Given the description of an element on the screen output the (x, y) to click on. 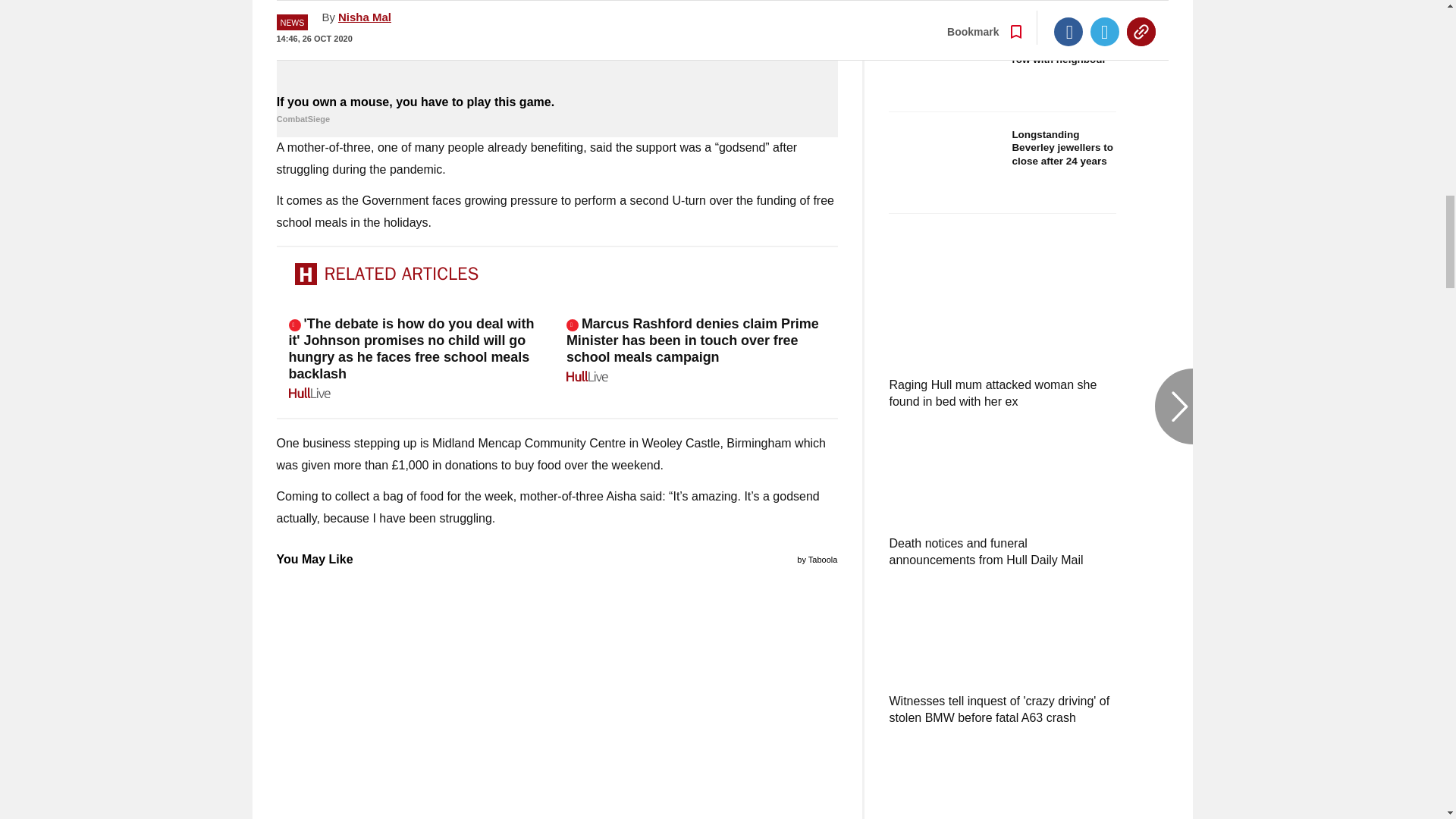
If you own a mouse, you have to play this game. (557, 45)
If you own a mouse, you have to play this game. (557, 110)
